Given the description of an element on the screen output the (x, y) to click on. 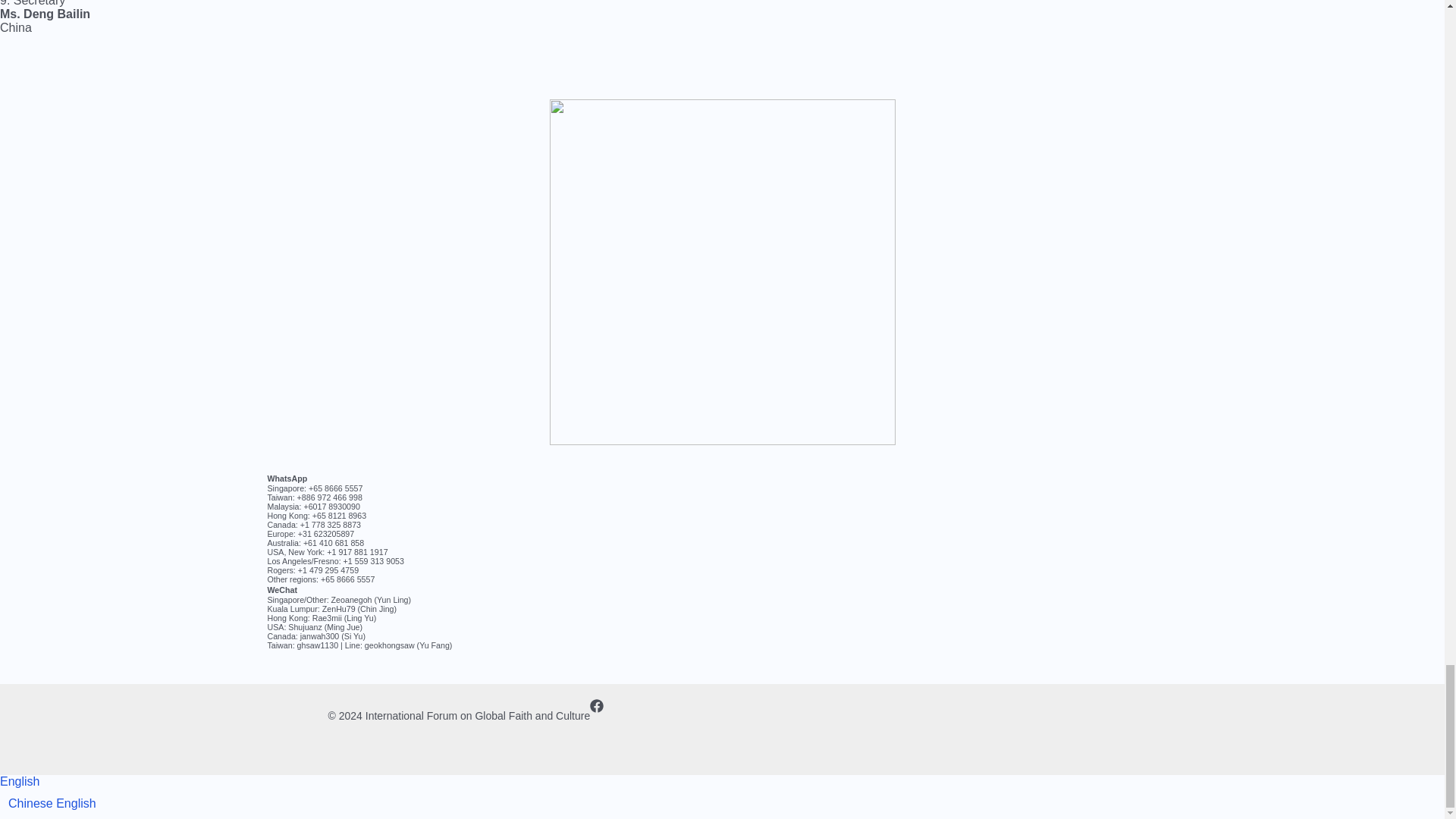
English (19, 780)
Chinese (32, 802)
Chinese (32, 802)
